Given the description of an element on the screen output the (x, y) to click on. 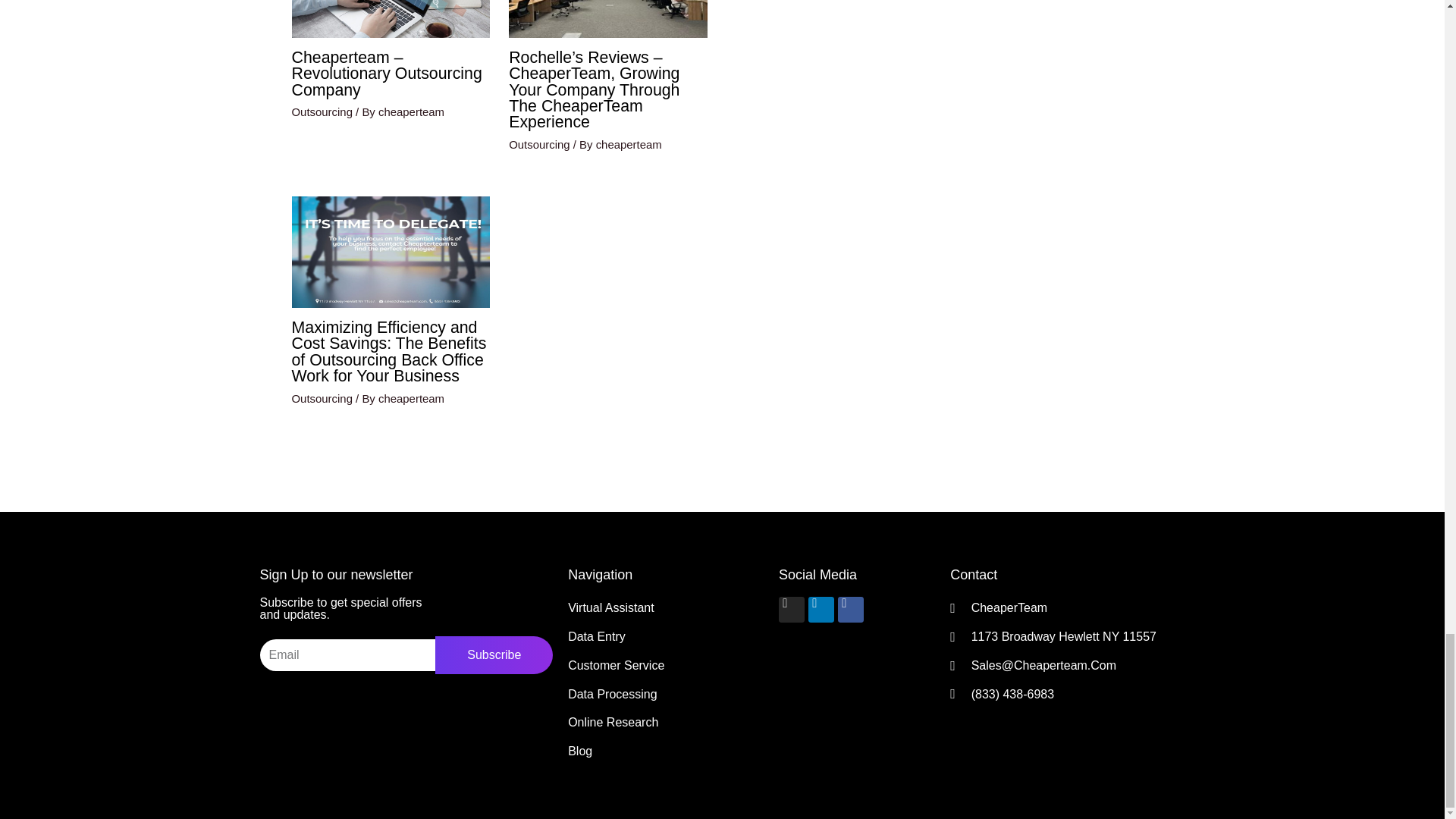
cheaperteam (628, 144)
cheaperteam (411, 111)
Cheaperteam - Revolutionary Outsourcing Company 4 (390, 18)
Outsourcing (538, 144)
View all posts by cheaperteam (411, 111)
Outsourcing (321, 111)
cheaperteam (411, 398)
View all posts by cheaperteam (628, 144)
